Given the description of an element on the screen output the (x, y) to click on. 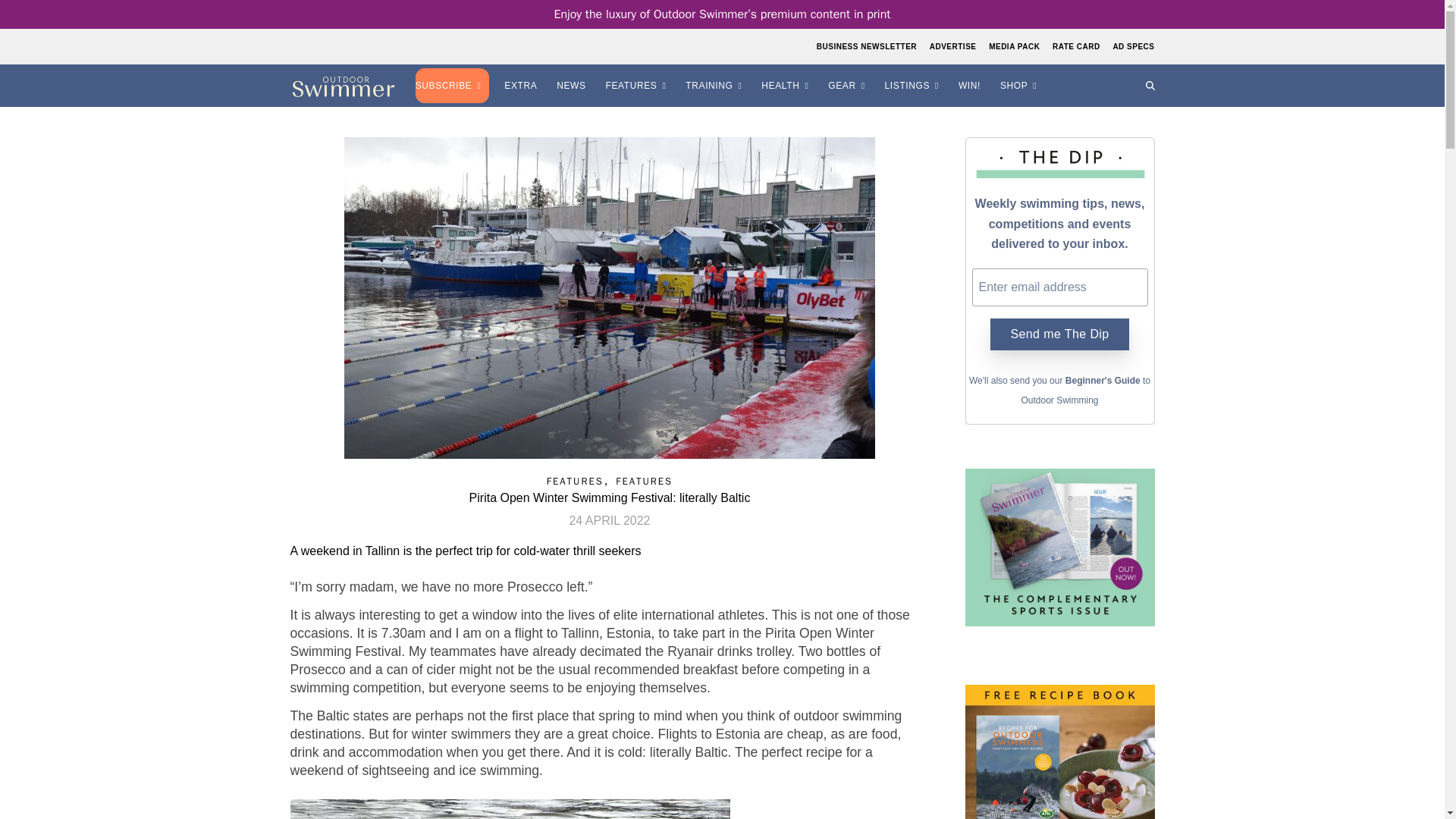
MEDIA PACK (1014, 46)
FEATURES (638, 85)
TRAINING (716, 85)
Outdoor Swimmer Magazine (342, 85)
RATE CARD (1075, 46)
EXTRA (522, 85)
AD SPECS (1131, 46)
SUBSCRIBE (453, 85)
BUSINESS NEWSLETTER (868, 46)
Enter email address (1060, 287)
ADVERTISE (952, 46)
Send me The Dip (1059, 334)
NEWS (572, 85)
